Given the description of an element on the screen output the (x, y) to click on. 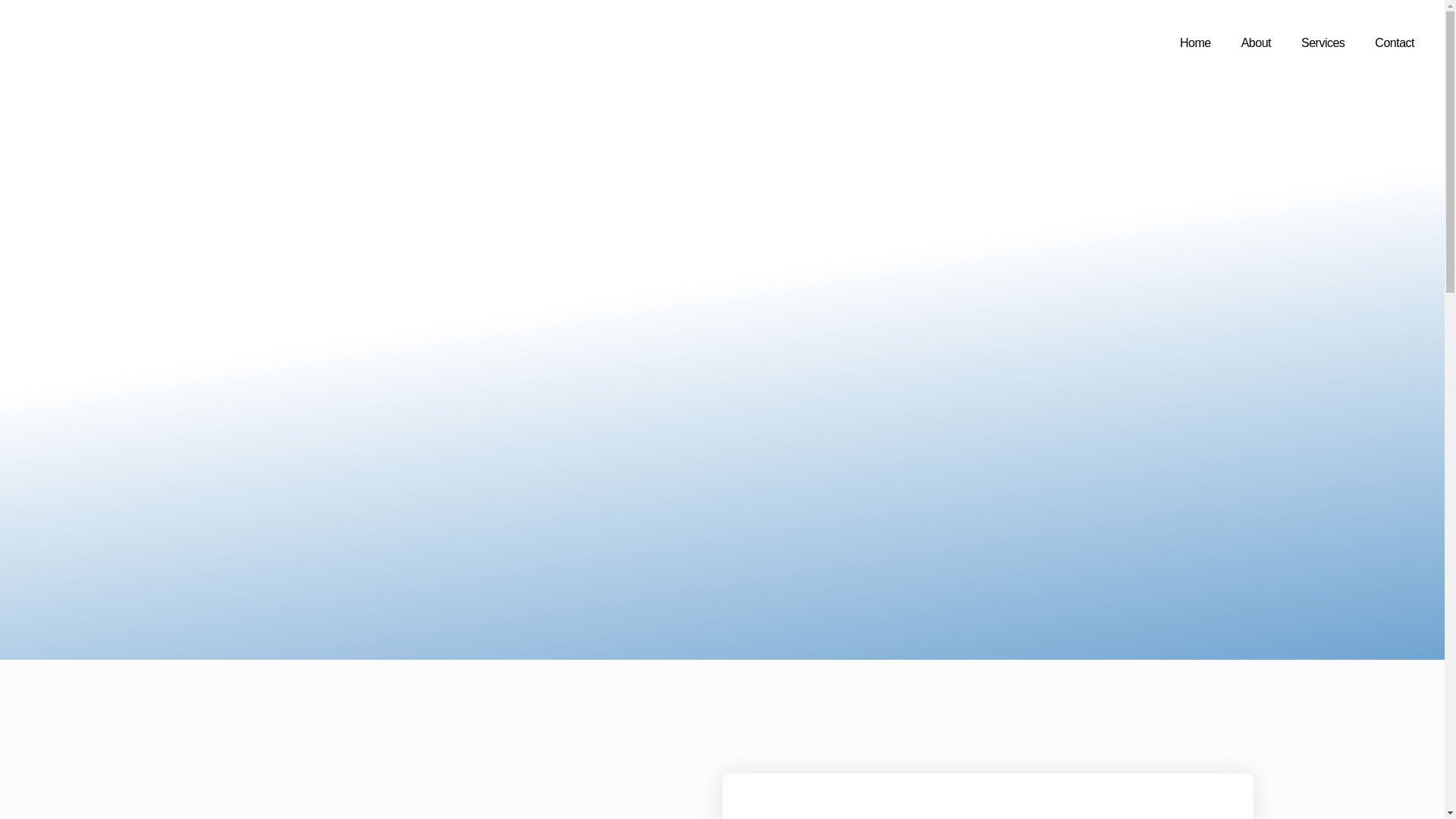
About (1255, 42)
Contact (1394, 42)
Home (1194, 42)
Services (1322, 42)
